Given the description of an element on the screen output the (x, y) to click on. 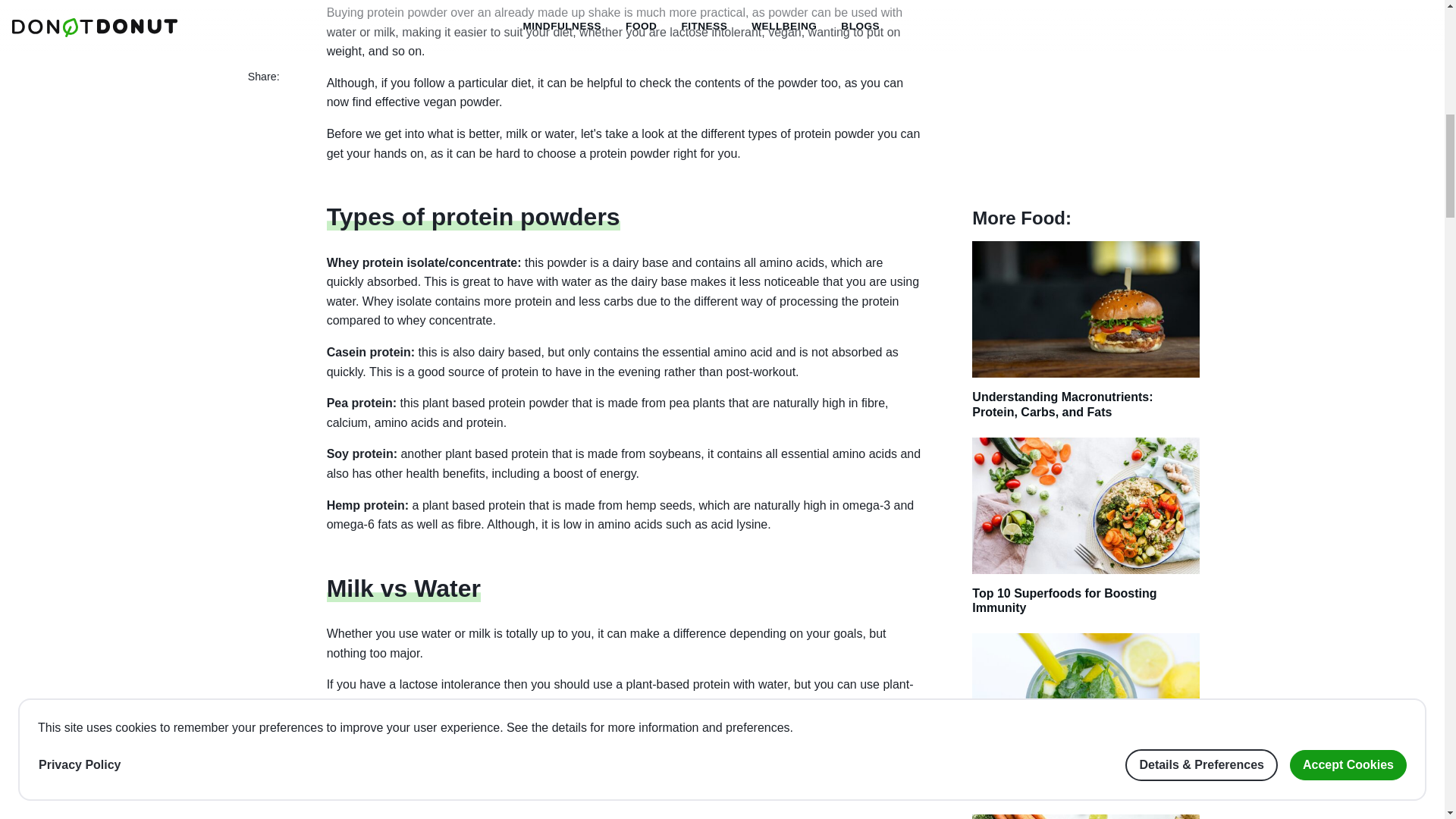
Understanding Macronutrients: Protein, Carbs, and Fats (1085, 338)
Top 10 Superfoods for Boosting Immunity (1085, 535)
The dangers of detox diets (1085, 816)
7 Common Nutritional Myths Debunked (1085, 723)
